Given the description of an element on the screen output the (x, y) to click on. 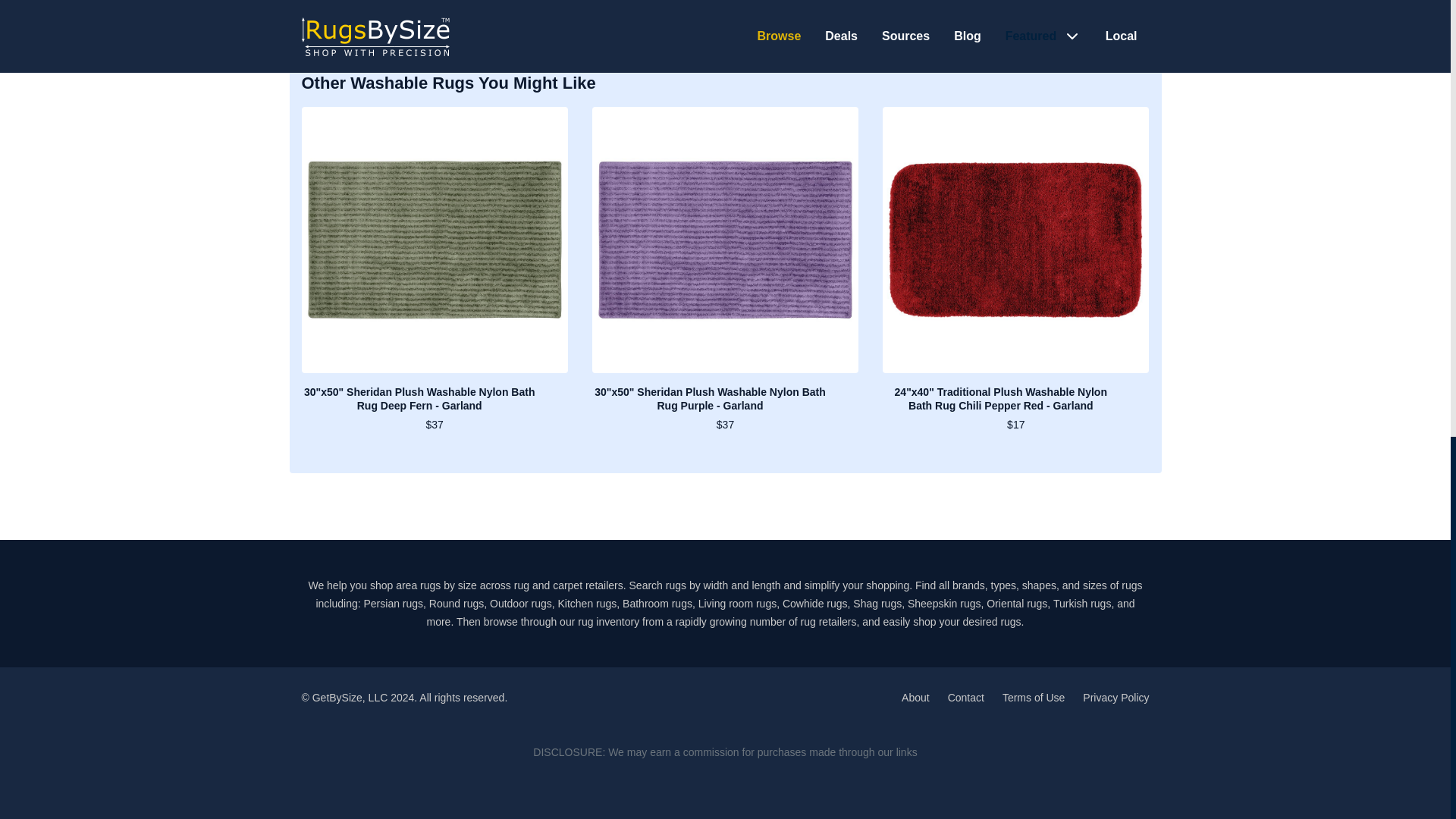
Privacy Policy (1115, 697)
select (375, 3)
Contact (965, 697)
clear (337, 3)
About (915, 697)
Terms of Use (1033, 697)
